Given the description of an element on the screen output the (x, y) to click on. 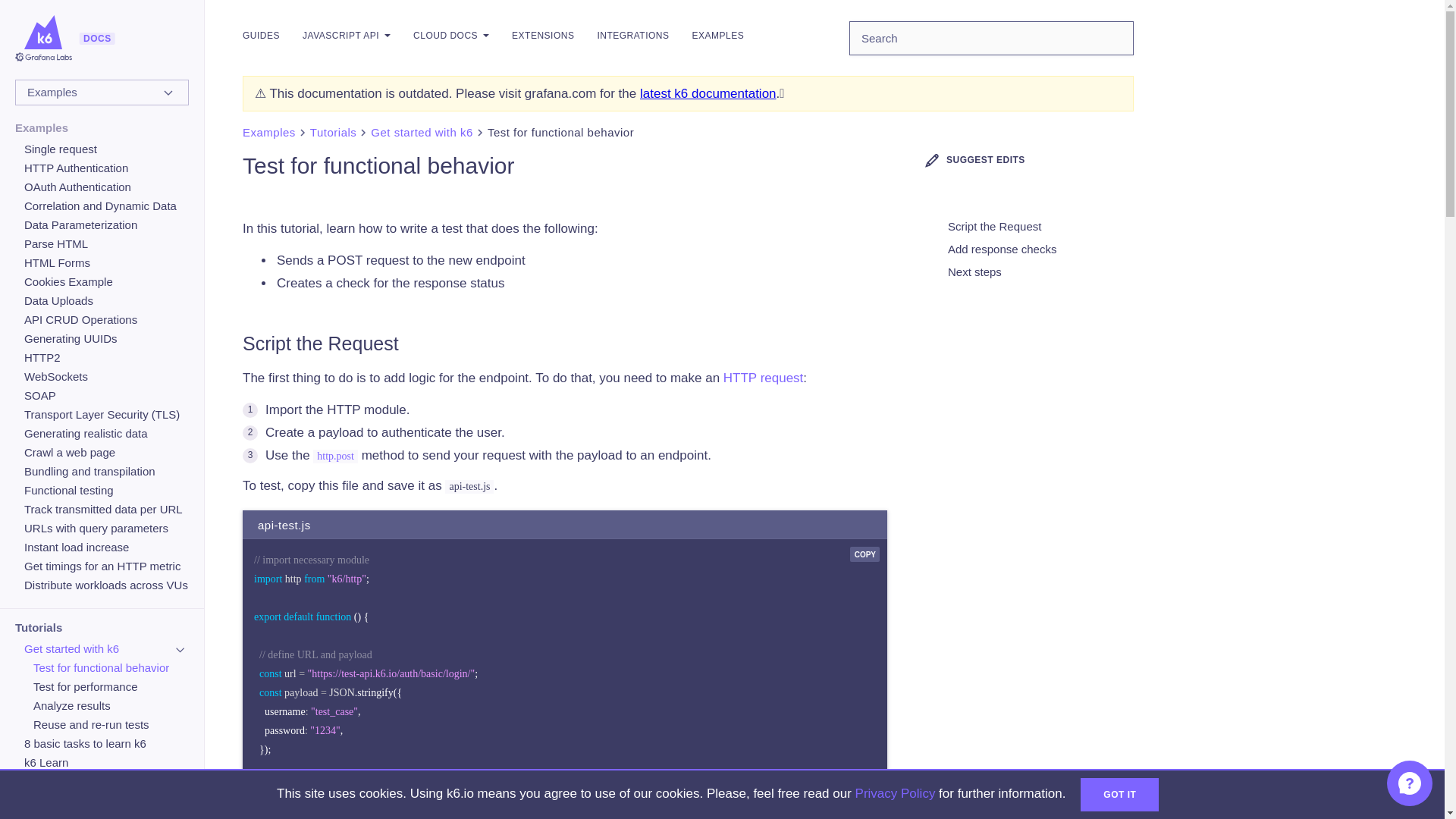
Distribute workloads across VUs (106, 585)
DOCS (42, 38)
Functional testing (106, 490)
Test for functional behavior (111, 667)
Single request (106, 149)
Reuse and re-run tests (111, 724)
API CRUD Operations (106, 319)
HTTP2 (106, 357)
8 basic tasks to learn k6 (106, 743)
Cookies Example (106, 281)
k6 Learn (106, 762)
Examples (101, 92)
WebSockets (106, 376)
Load test a GraphQL service (106, 815)
HTTP Authentication (106, 168)
